Given the description of an element on the screen output the (x, y) to click on. 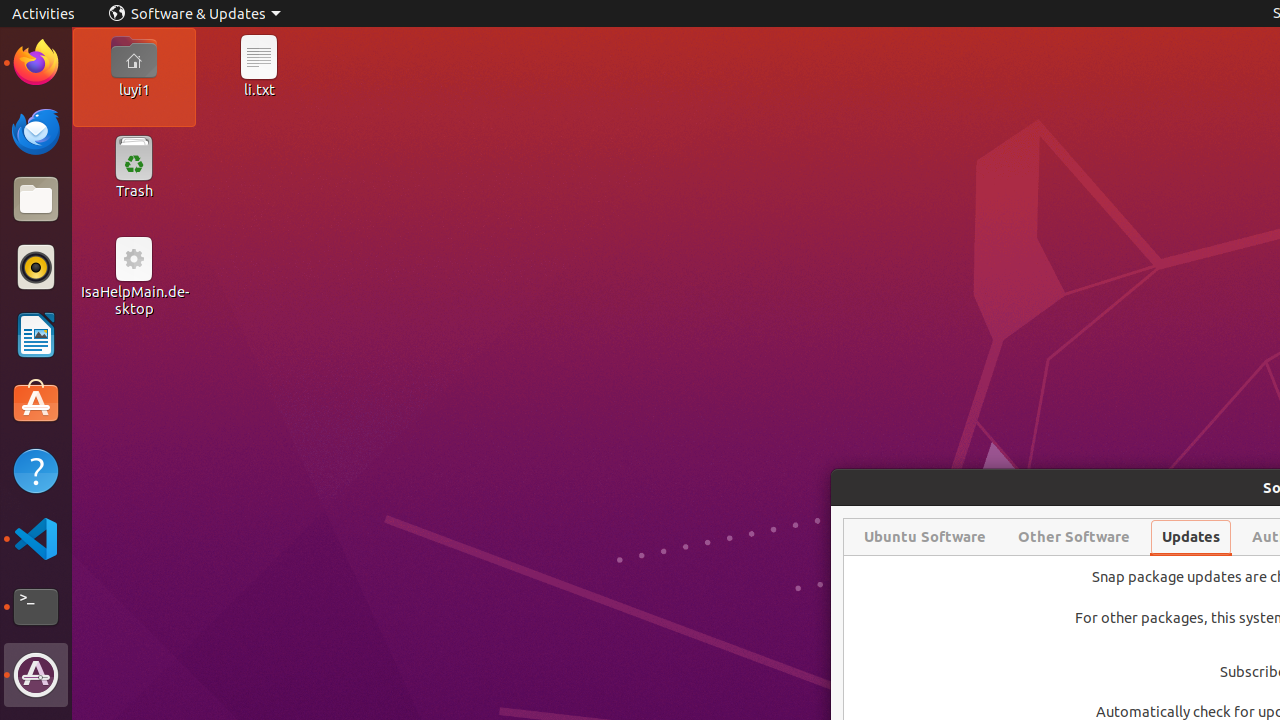
Terminal Element type: push-button (36, 607)
luyi1 Element type: label (133, 89)
